Given the description of an element on the screen output the (x, y) to click on. 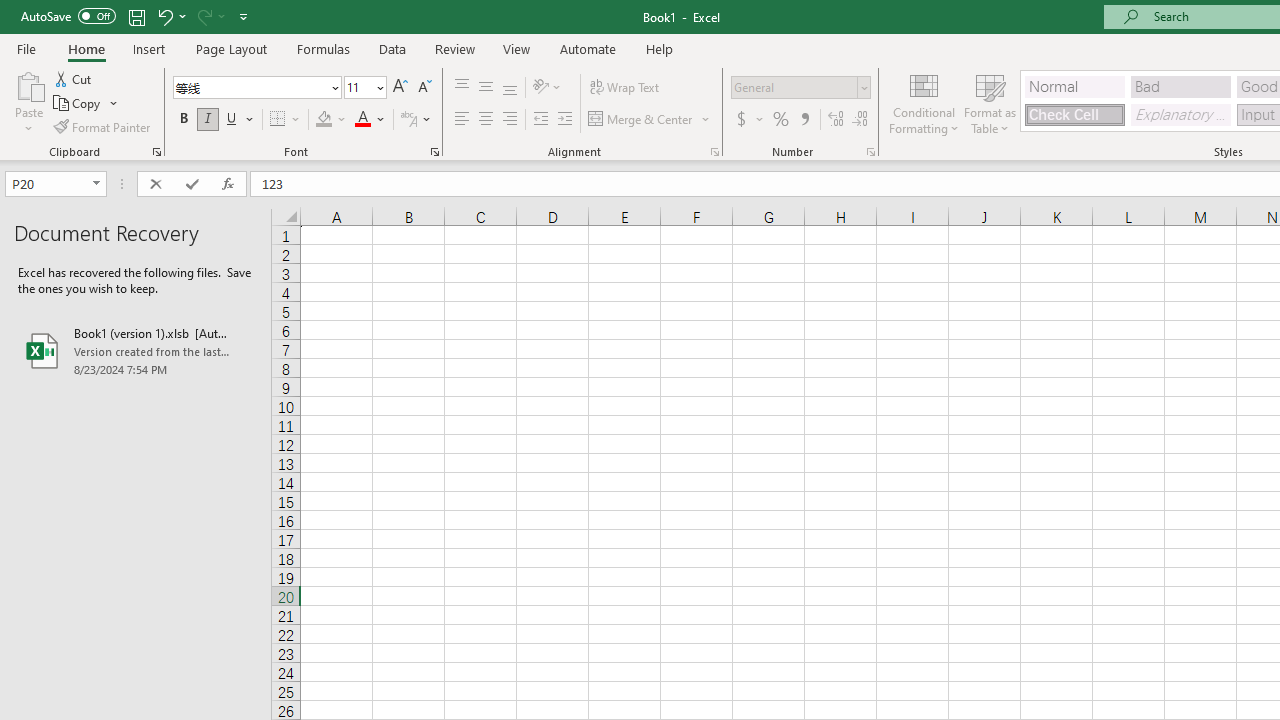
Paste (28, 84)
Bottom Align (509, 87)
Font (256, 87)
Font (250, 87)
Comma Style (804, 119)
File Tab (26, 48)
Name Box (46, 183)
Increase Font Size (399, 87)
Align Left (461, 119)
Conditional Formatting (924, 102)
Format Cell Alignment (714, 151)
Book1 (version 1).xlsb  [AutoRecovered] (136, 350)
Explanatory Text (1180, 114)
Decrease Decimal (859, 119)
